Given the description of an element on the screen output the (x, y) to click on. 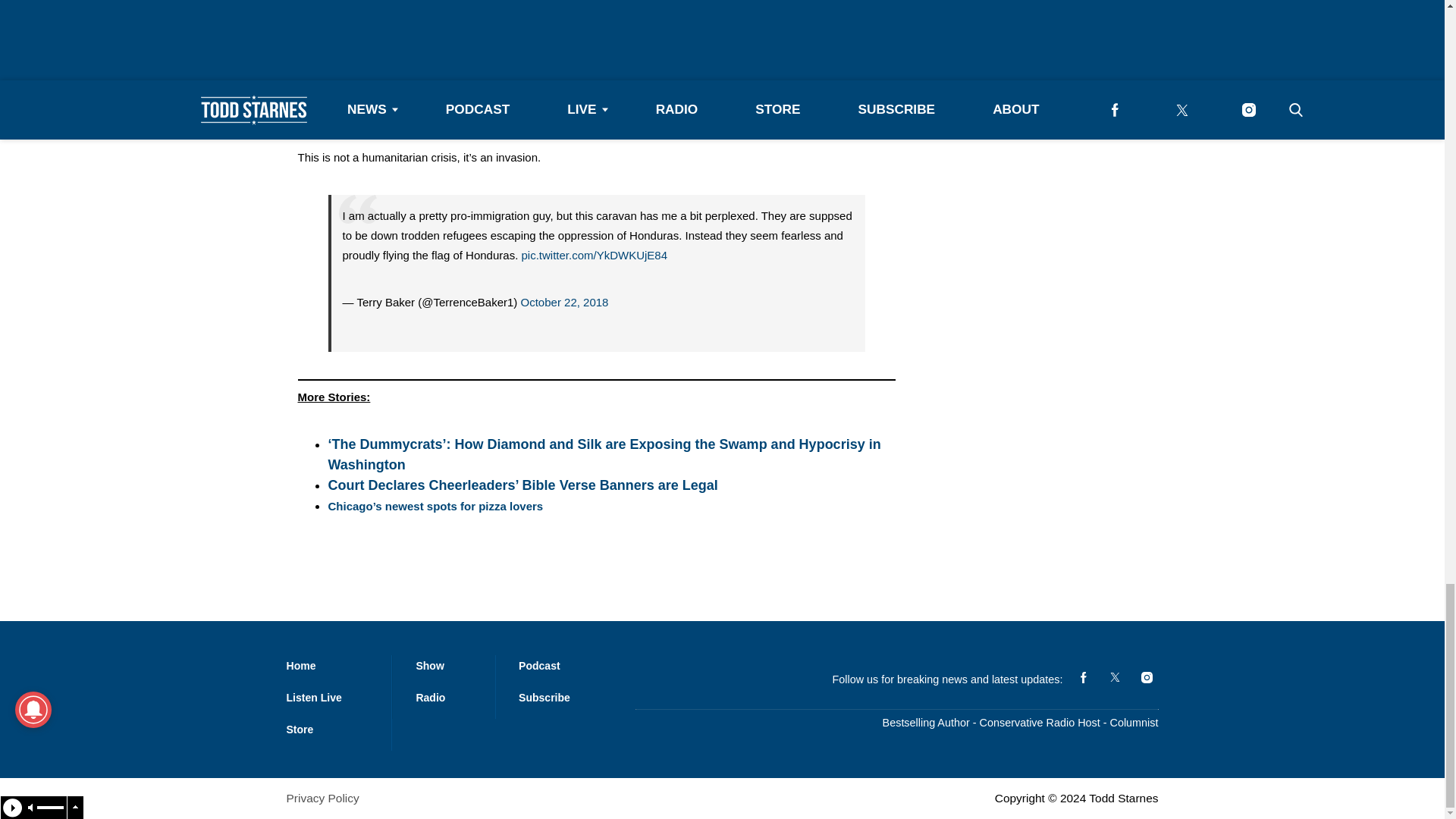
October 22, 2018 (597, 18)
Podcast (539, 665)
Show (429, 665)
Follow us on Facebook (1082, 676)
Follow us on Twitter (1114, 676)
Follow us on Instagram (1146, 676)
Home (300, 665)
October 22, 2018 (564, 301)
